Given the description of an element on the screen output the (x, y) to click on. 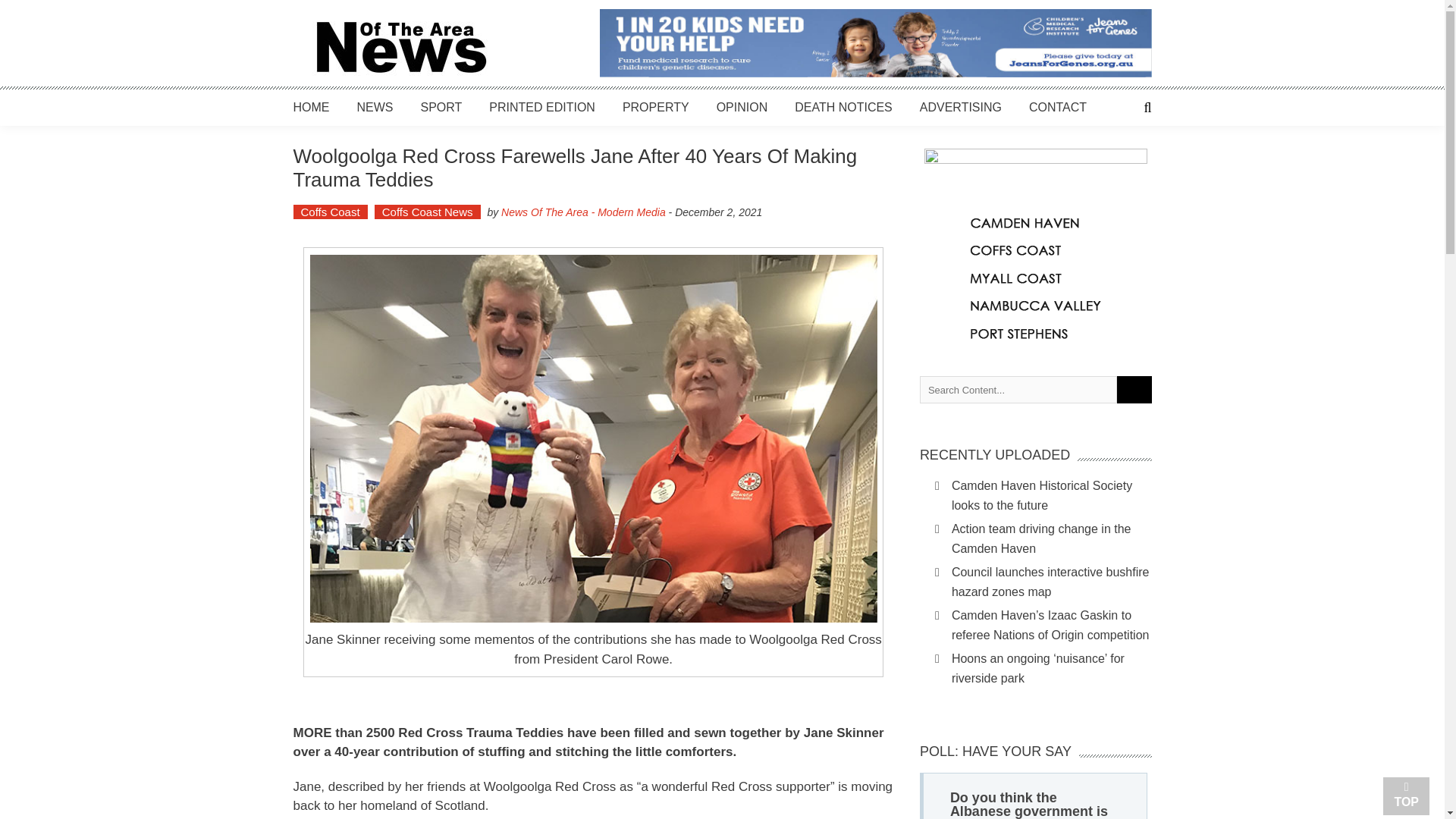
NEWS (374, 106)
Skip to content (37, 8)
Search for: (1018, 389)
HOME (310, 106)
PROPERTY (655, 106)
PRINTED EDITION (542, 106)
SPORT (440, 106)
